Given the description of an element on the screen output the (x, y) to click on. 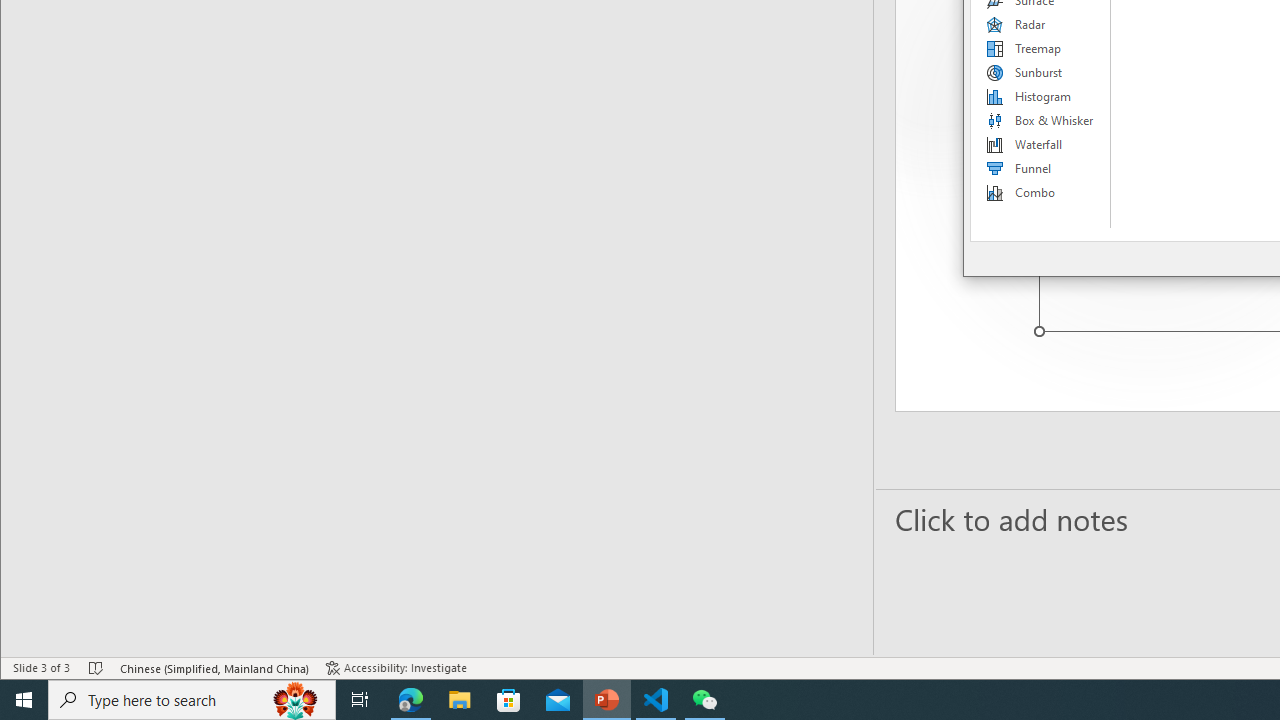
Treemap (1041, 48)
Funnel (1041, 168)
